Given the description of an element on the screen output the (x, y) to click on. 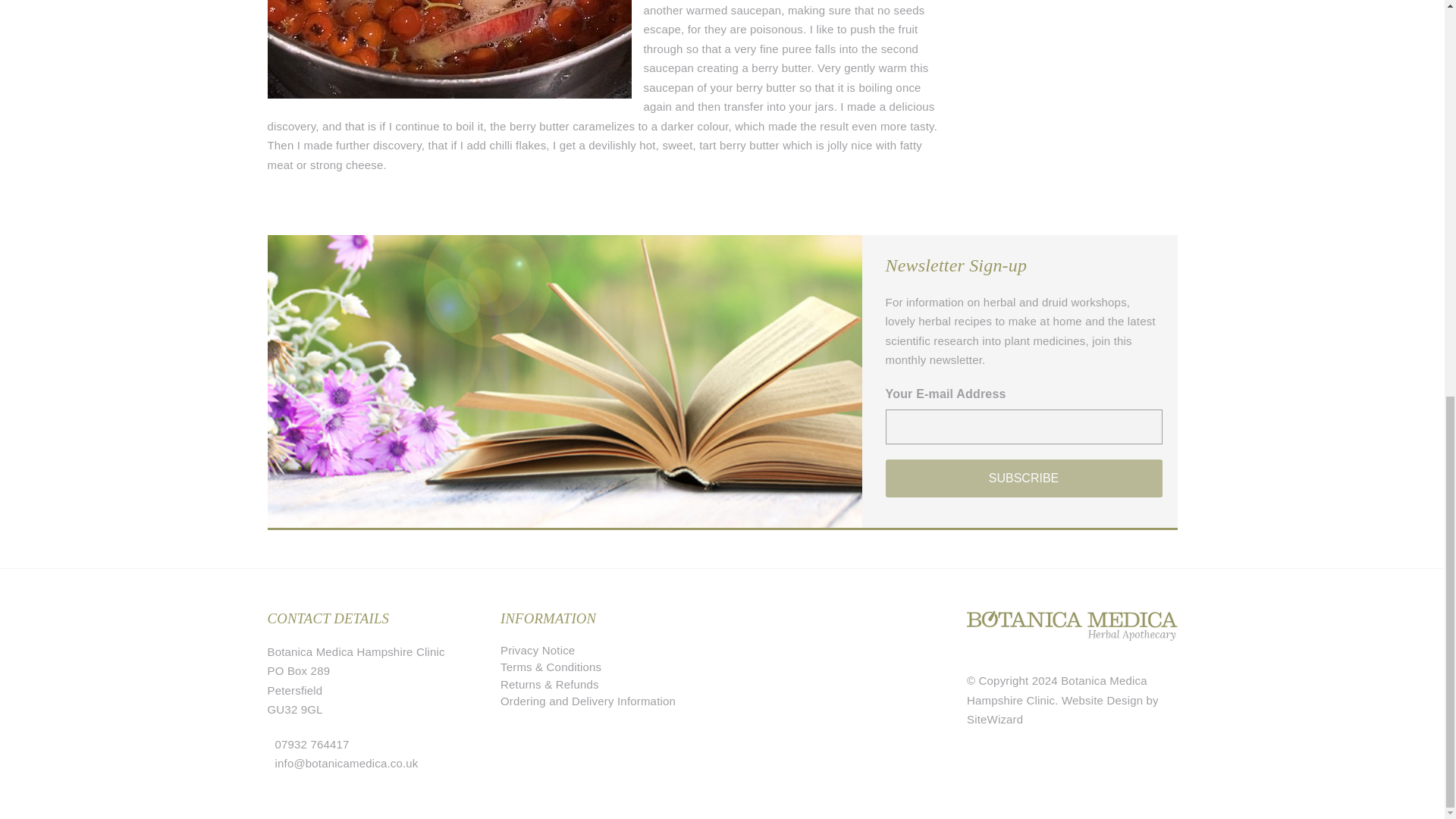
Subscribe (1023, 478)
Ordering and Delivery Information (587, 700)
SiteWizard (994, 718)
Subscribe (1023, 478)
Privacy Notice (537, 649)
07932 764417 (312, 744)
